Given the description of an element on the screen output the (x, y) to click on. 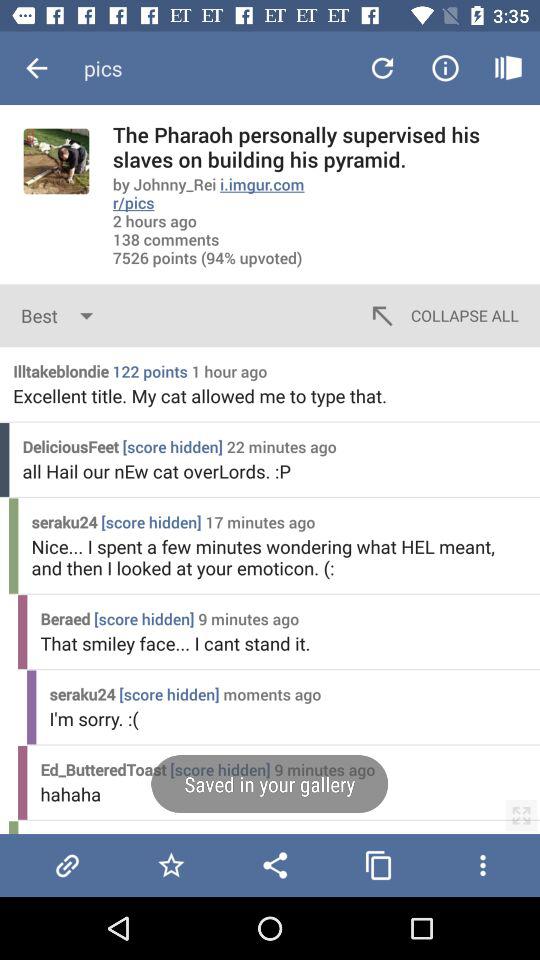
open full screen (521, 815)
